Given the description of an element on the screen output the (x, y) to click on. 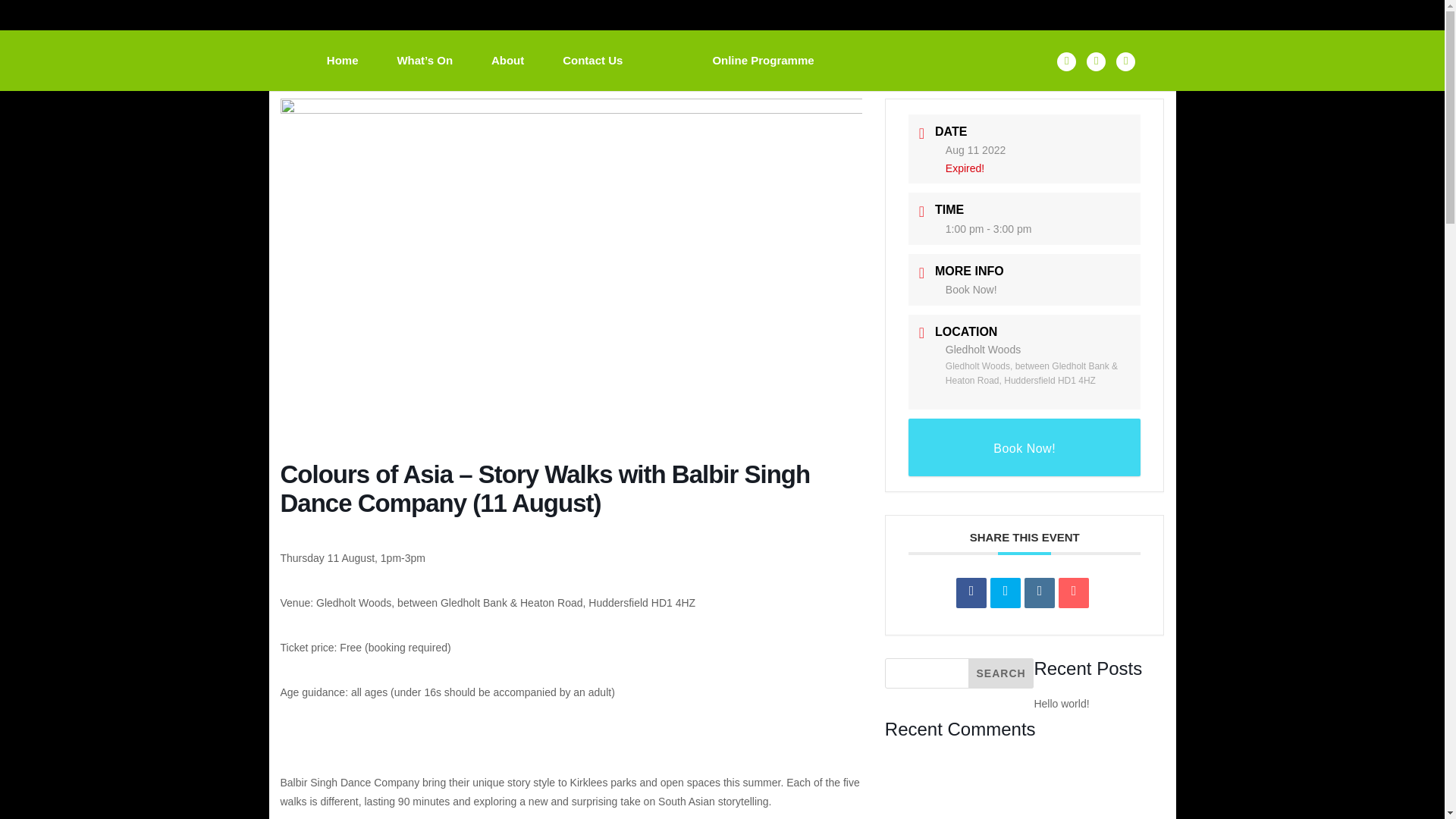
Linkedin (1039, 593)
About (508, 72)
Contact Us (592, 72)
Book Now! (1024, 446)
Search (1000, 673)
Email (1073, 593)
Home (342, 72)
Book Now! (970, 289)
Search (1000, 673)
Online Programme (762, 72)
Share on Facebook (971, 593)
Tweet (1005, 593)
Hello world! (1061, 703)
